Given the description of an element on the screen output the (x, y) to click on. 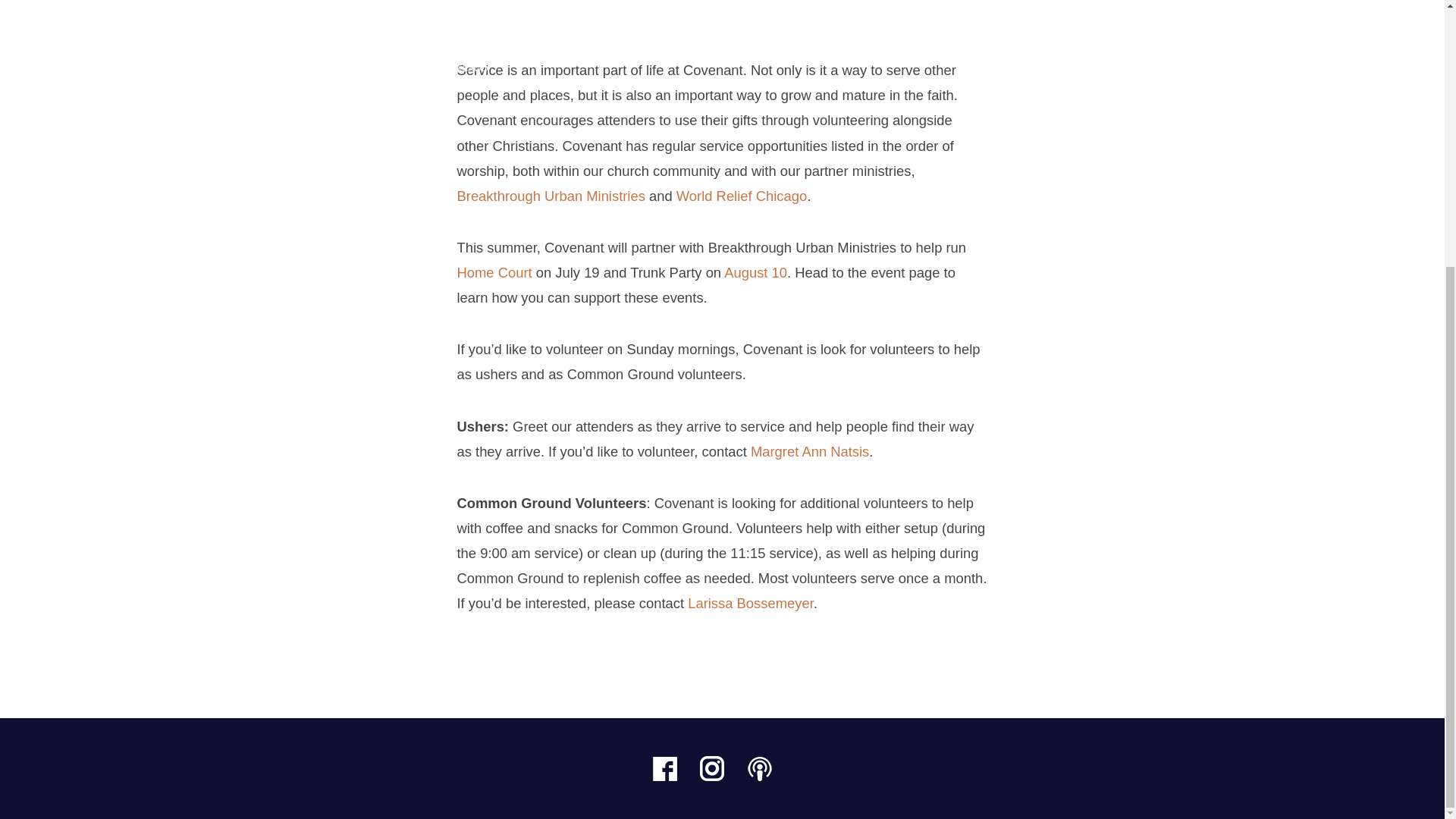
August 10 (755, 272)
Breakthrough Urban Ministries (551, 195)
World Relief Chicago (741, 195)
Larissa Bossemeyer (750, 602)
Margret Ann Natsis (810, 451)
Home Court (494, 272)
